Given the description of an element on the screen output the (x, y) to click on. 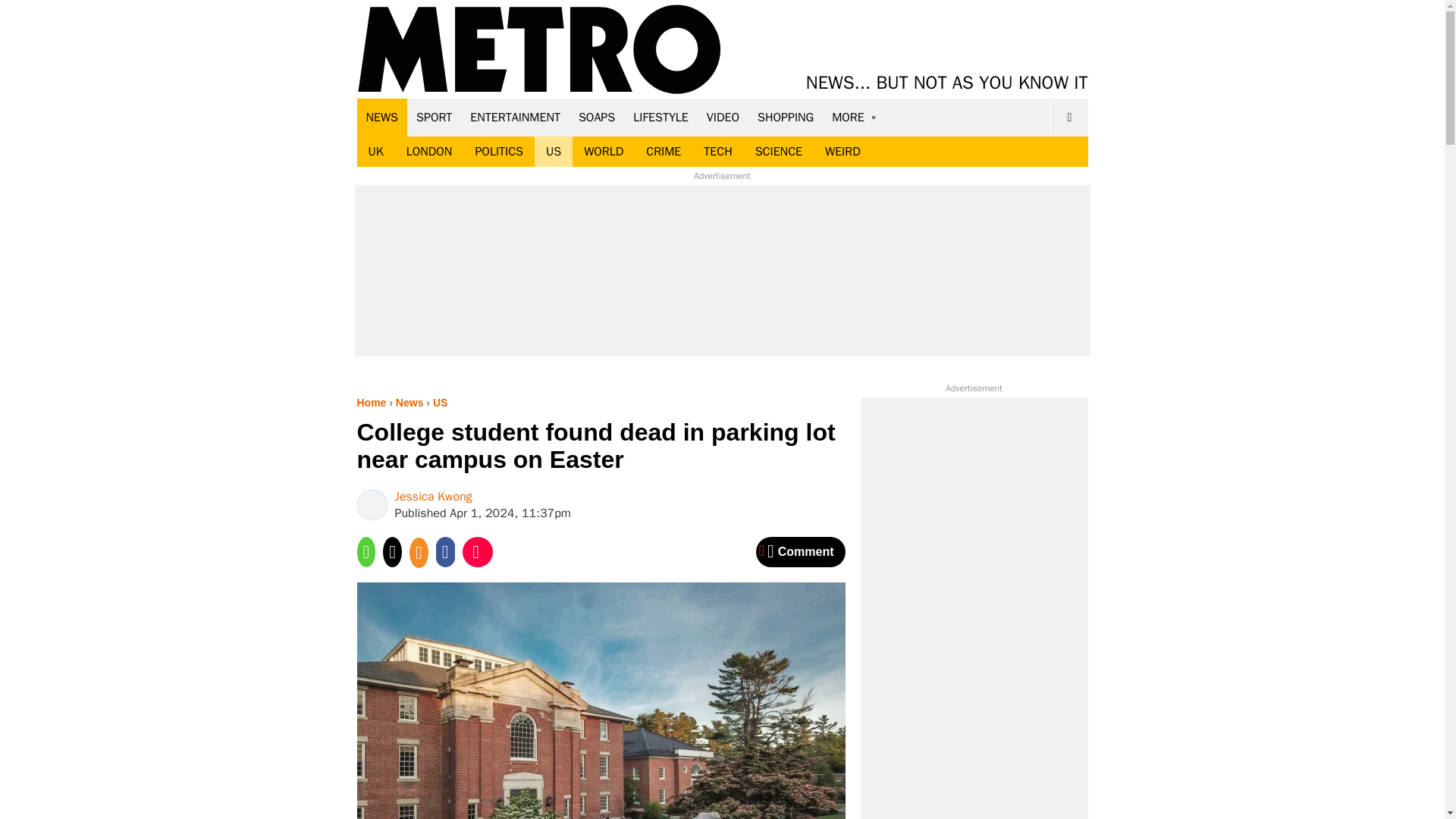
TECH (717, 151)
POLITICS (498, 151)
US (553, 151)
LONDON (429, 151)
WORLD (603, 151)
UK (375, 151)
Metro (539, 50)
CRIME (663, 151)
ENTERTAINMENT (515, 117)
SCIENCE (778, 151)
